Given the description of an element on the screen output the (x, y) to click on. 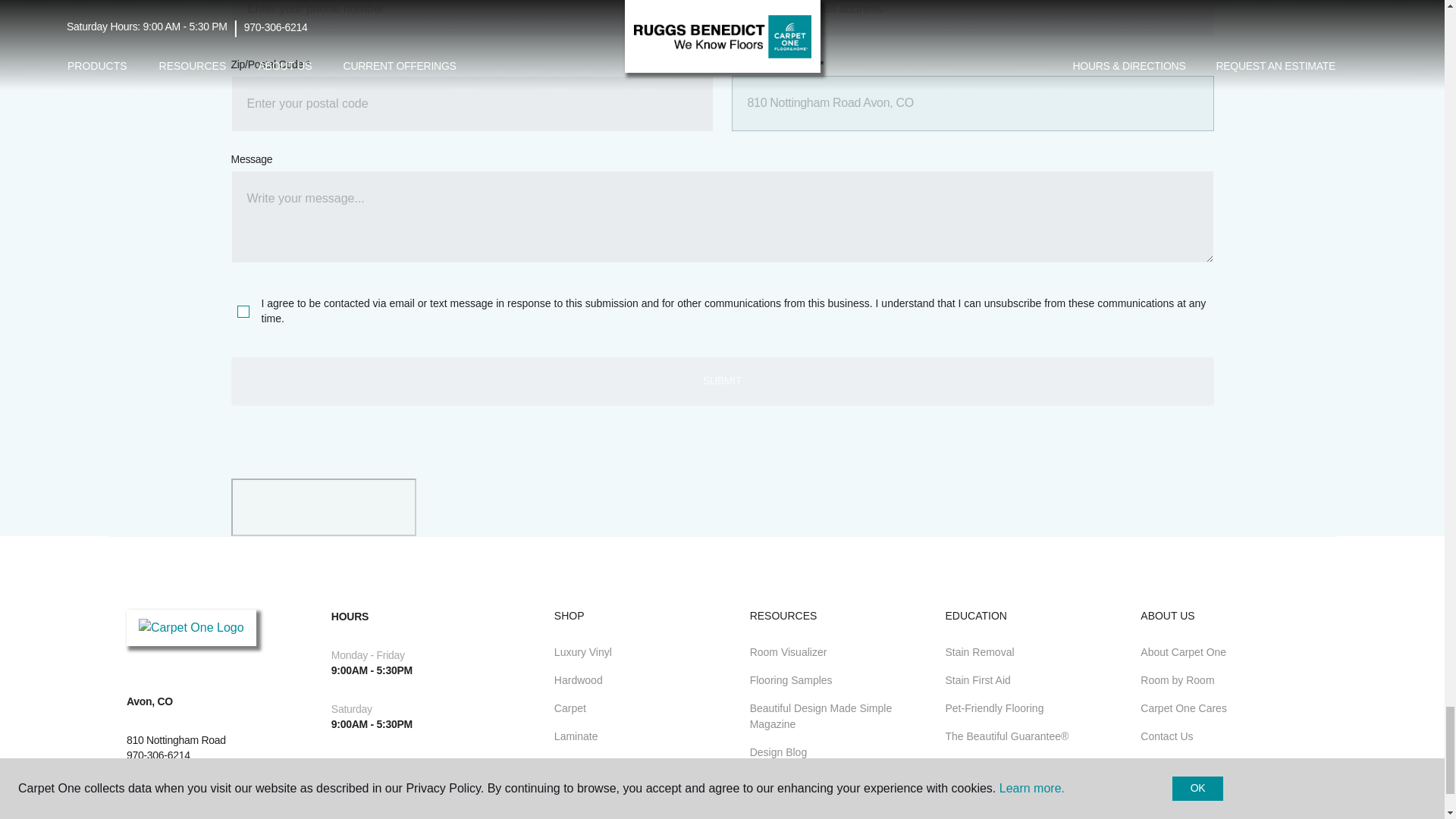
PostalCode (471, 103)
EmailAddress (971, 18)
CleanHomePhone (471, 18)
MyMessage (721, 216)
